Given the description of an element on the screen output the (x, y) to click on. 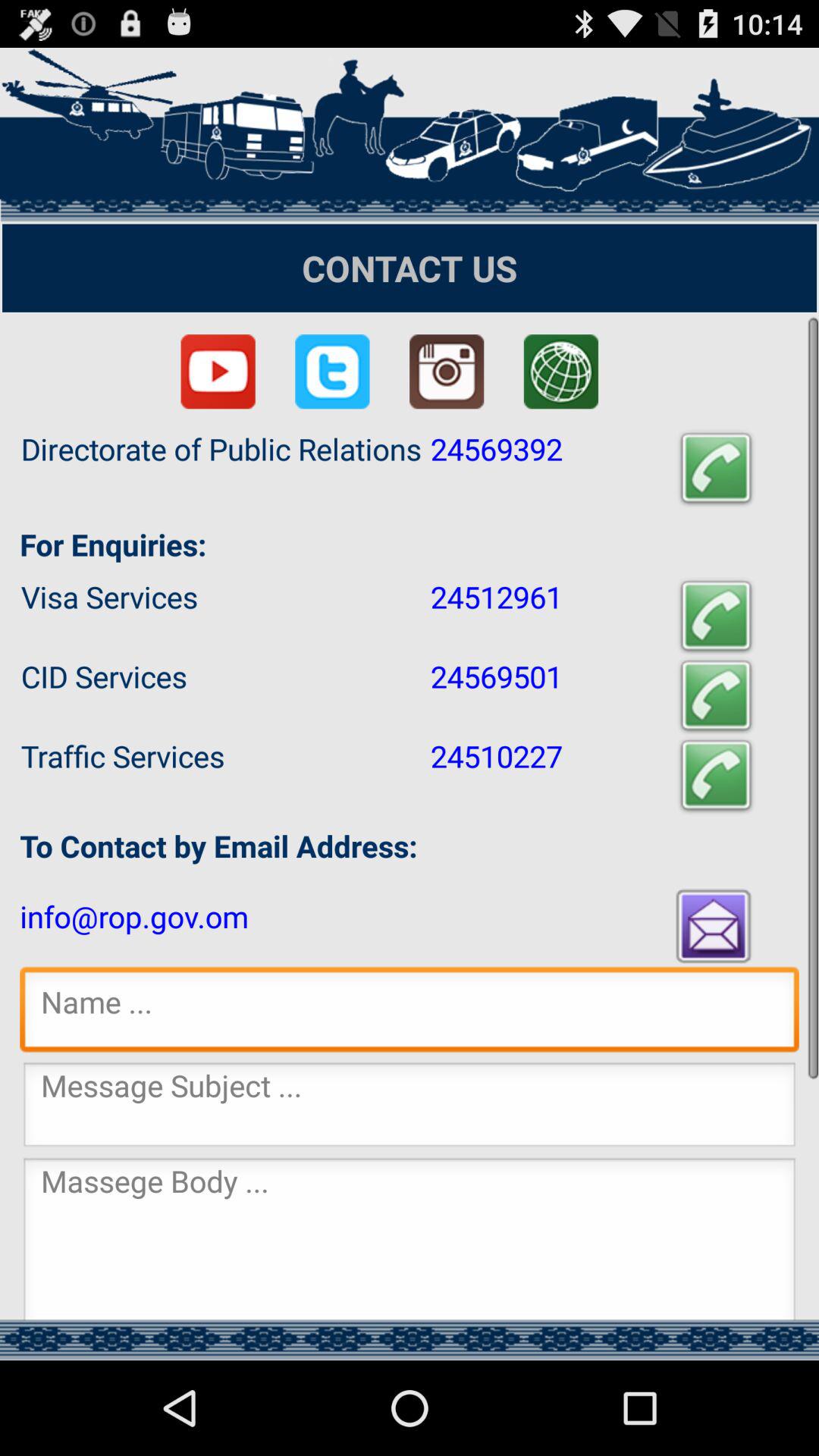
press app above to contact by app (716, 775)
